Given the description of an element on the screen output the (x, y) to click on. 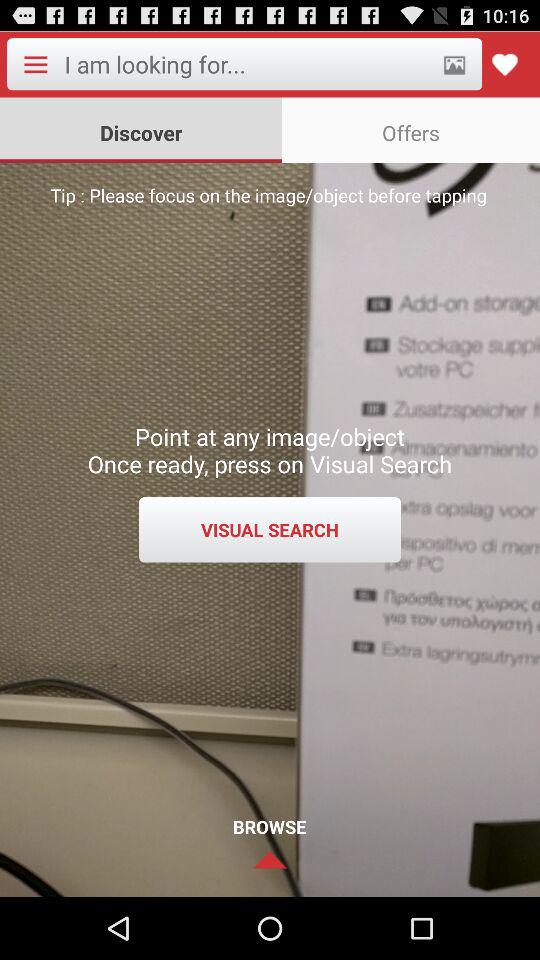
options and settings (35, 64)
